Given the description of an element on the screen output the (x, y) to click on. 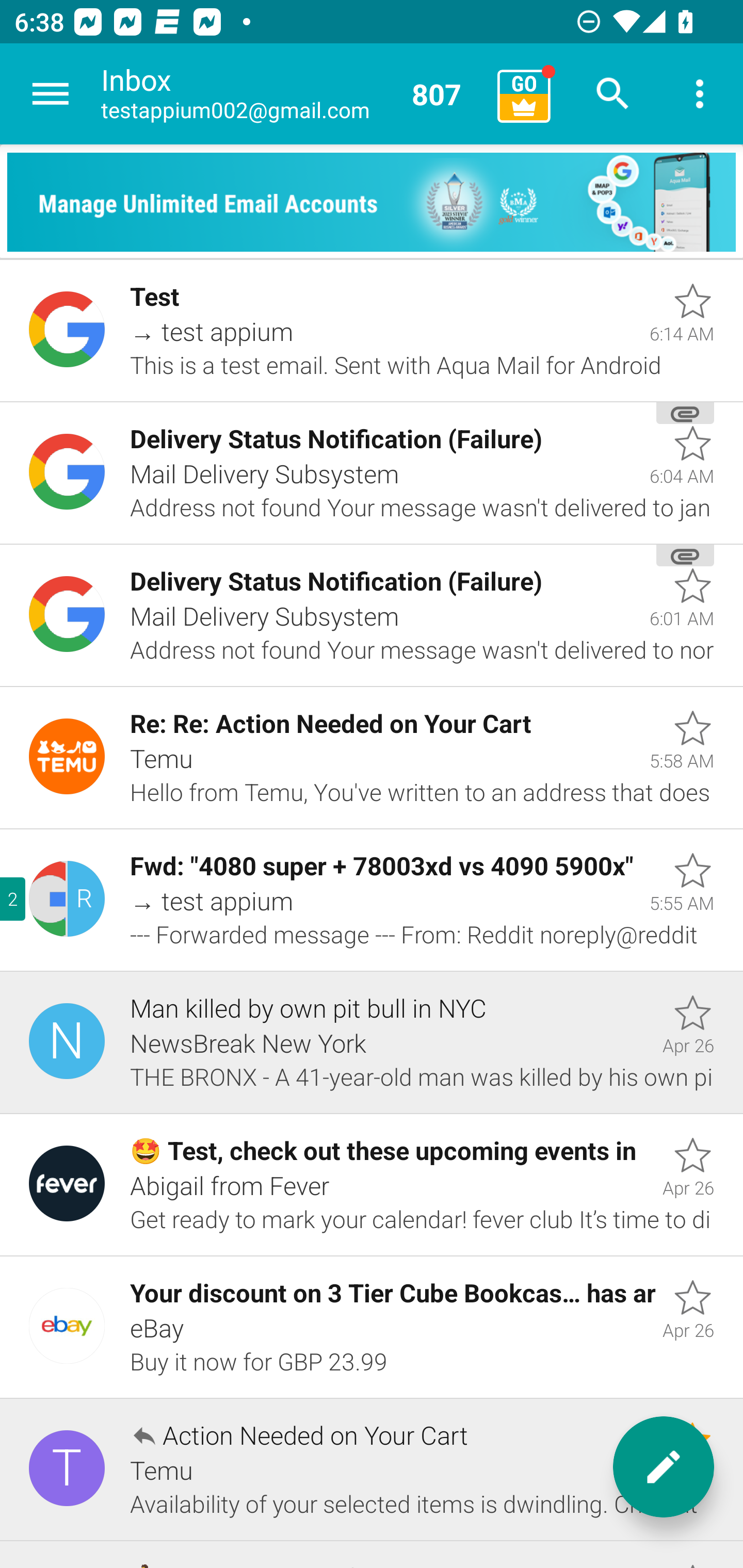
Navigate up (50, 93)
Inbox testappium002@gmail.com 807 (291, 93)
Search (612, 93)
More options (699, 93)
New message (663, 1466)
